Given the description of an element on the screen output the (x, y) to click on. 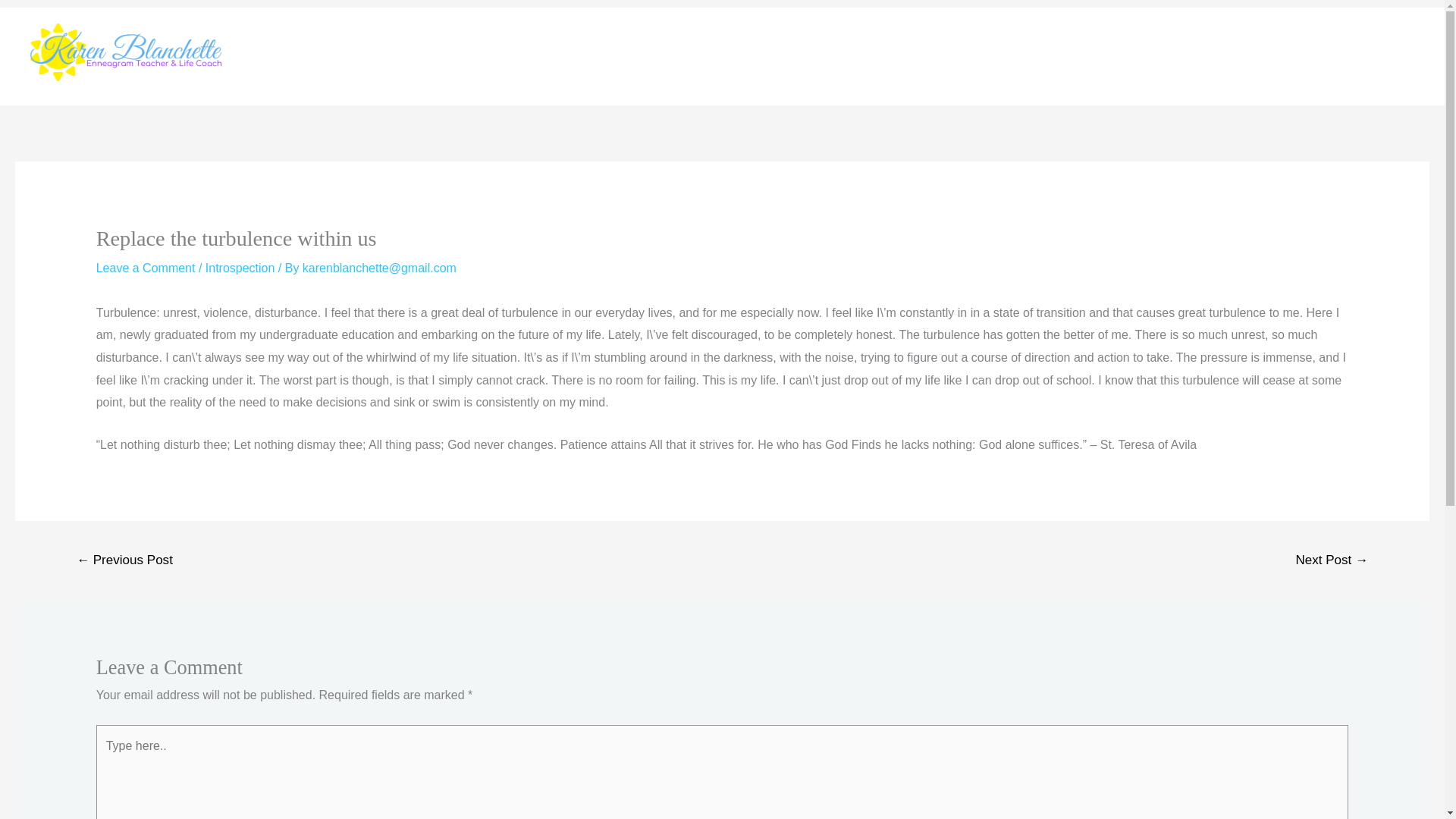
ABOUT (1187, 55)
Leave a Comment (145, 267)
CONTACT (1260, 55)
HOME (1123, 55)
Introspection (240, 267)
PERSONAL BLOG (1366, 55)
